Given the description of an element on the screen output the (x, y) to click on. 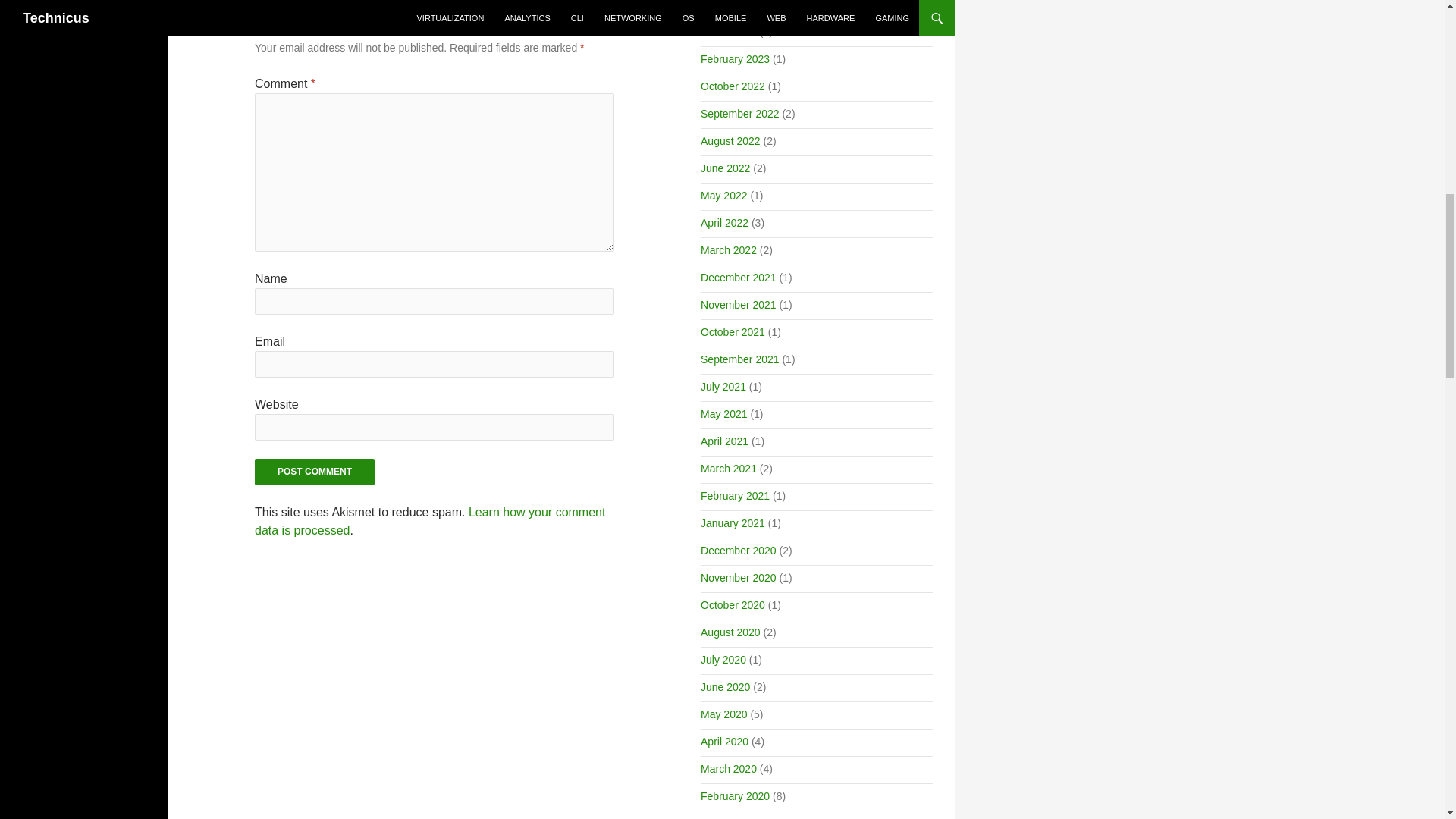
Learn how your comment data is processed (429, 521)
Post Comment (314, 471)
Post Comment (314, 471)
